Given the description of an element on the screen output the (x, y) to click on. 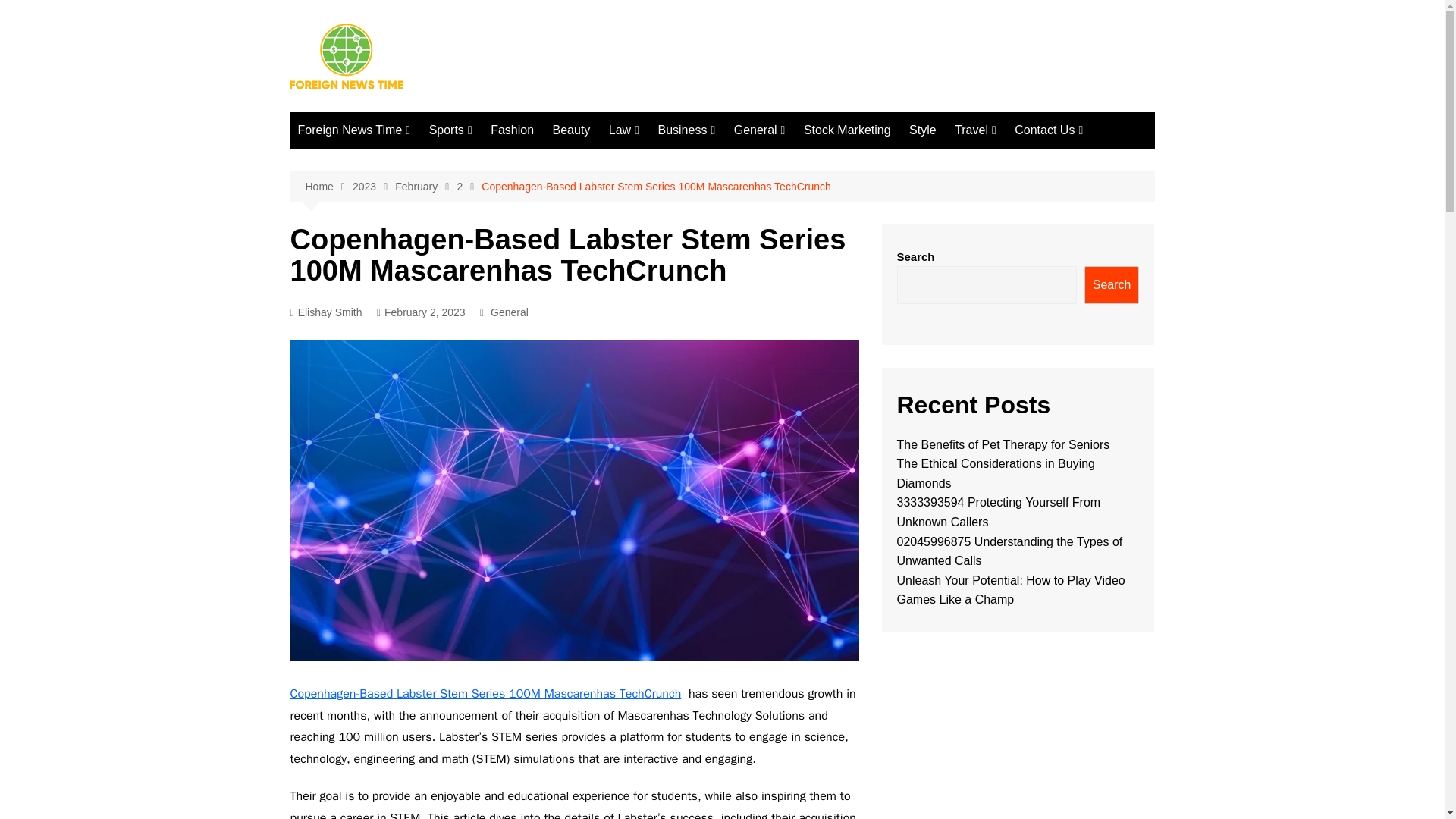
Baseball (671, 285)
United State (373, 461)
Foreign News Time (353, 130)
Architecture (373, 235)
Fashion (512, 130)
Business (685, 130)
Hockey (671, 260)
College Football (671, 211)
Law (623, 130)
Pro Football (505, 160)
Americas (373, 260)
Beauty (571, 130)
Olympics (671, 235)
Pakistan (373, 335)
Europe (373, 385)
